Given the description of an element on the screen output the (x, y) to click on. 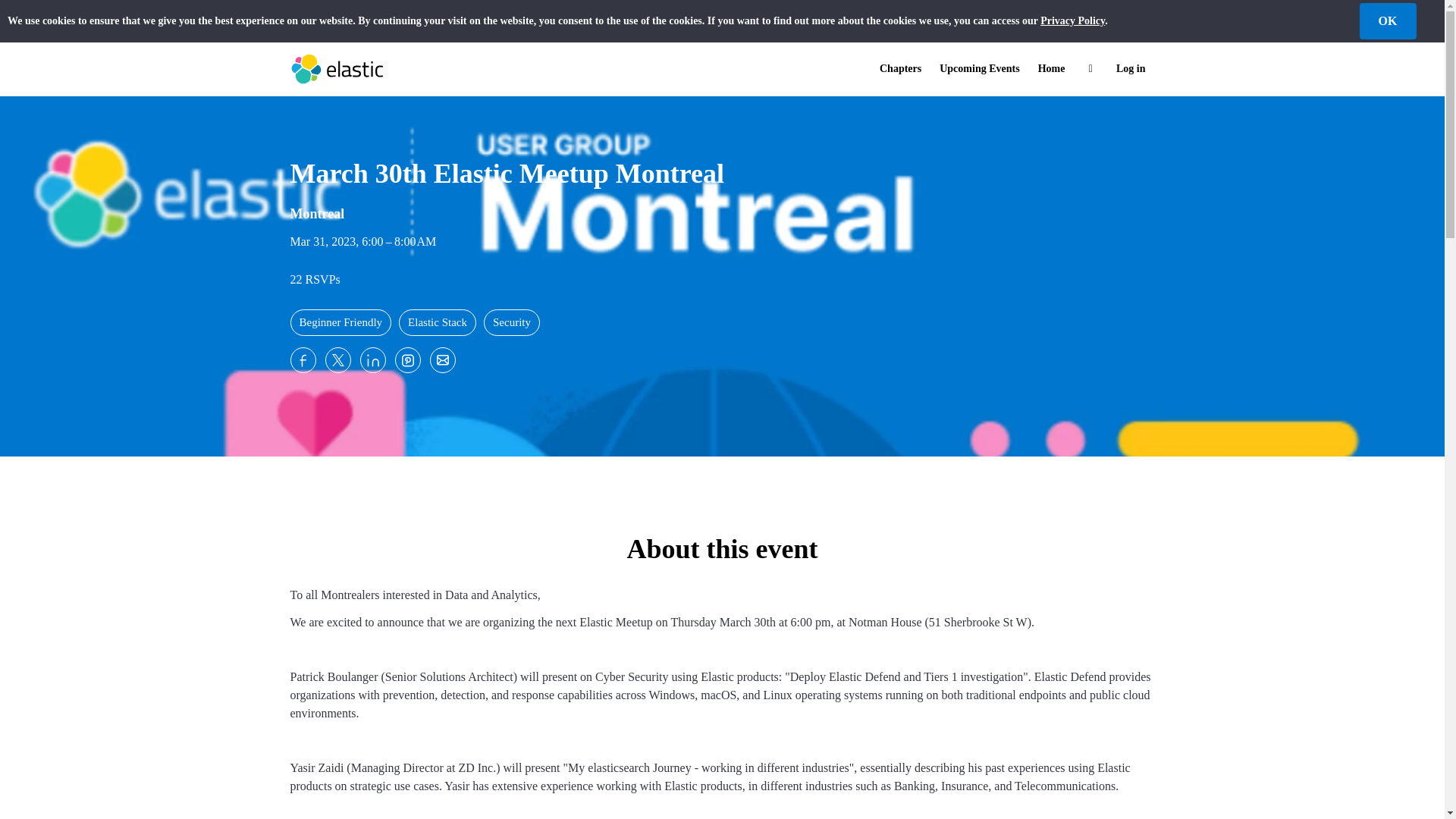
Chapters (900, 68)
Privacy Policy (1073, 20)
Upcoming Events (978, 68)
Beginner Friendly (340, 322)
Security (511, 322)
OK (1386, 21)
Elastic Stack (437, 322)
Montreal (316, 211)
Log in (1130, 68)
